Given the description of an element on the screen output the (x, y) to click on. 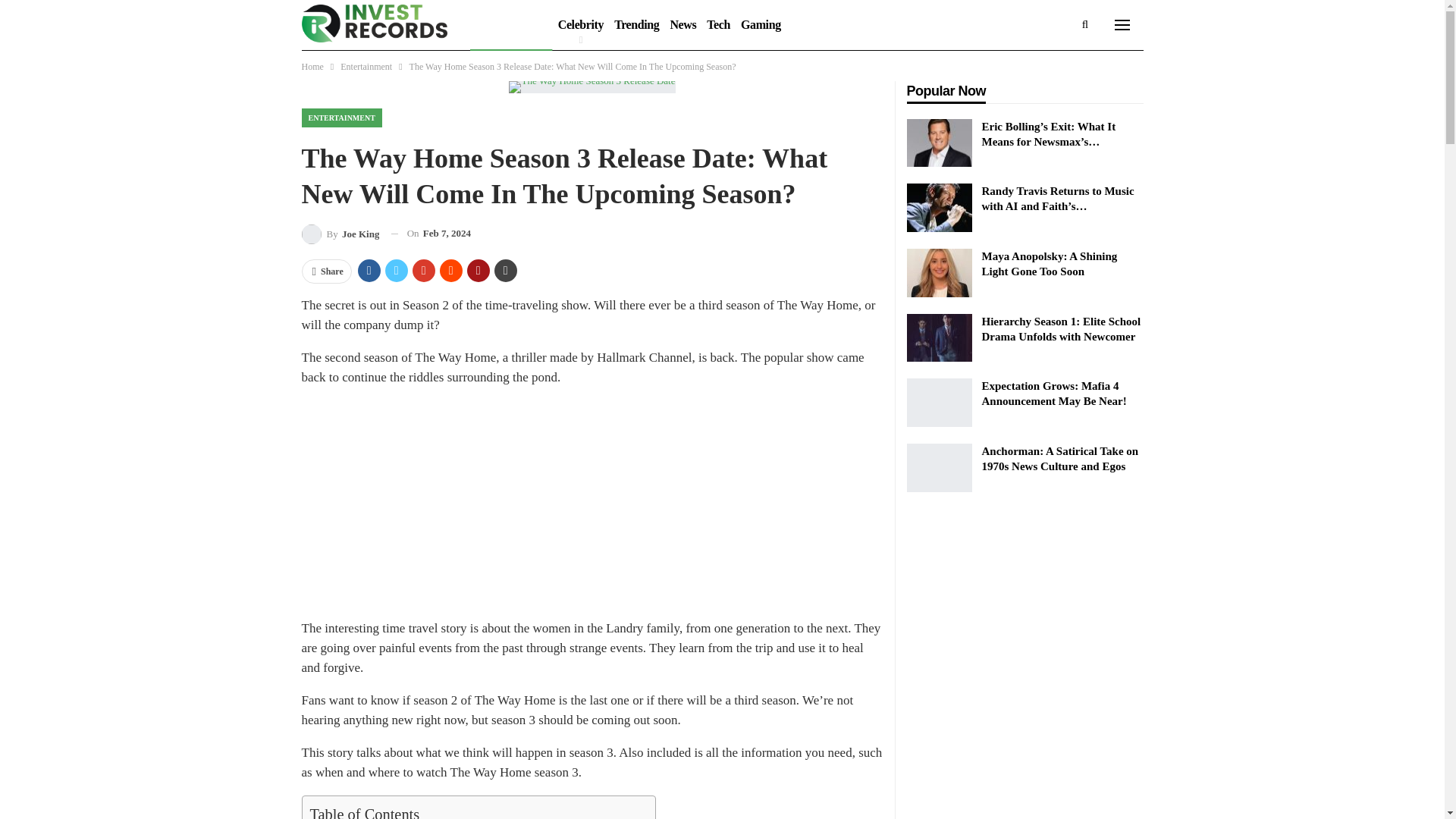
Entertainment (511, 24)
ENTERTAINMENT (341, 117)
Celebrity (580, 24)
Browse Author Articles (340, 233)
Gaming (760, 24)
Home (312, 66)
Entertainment (365, 66)
Advertisement (592, 506)
By Joe King (340, 233)
Trending (635, 24)
